Given the description of an element on the screen output the (x, y) to click on. 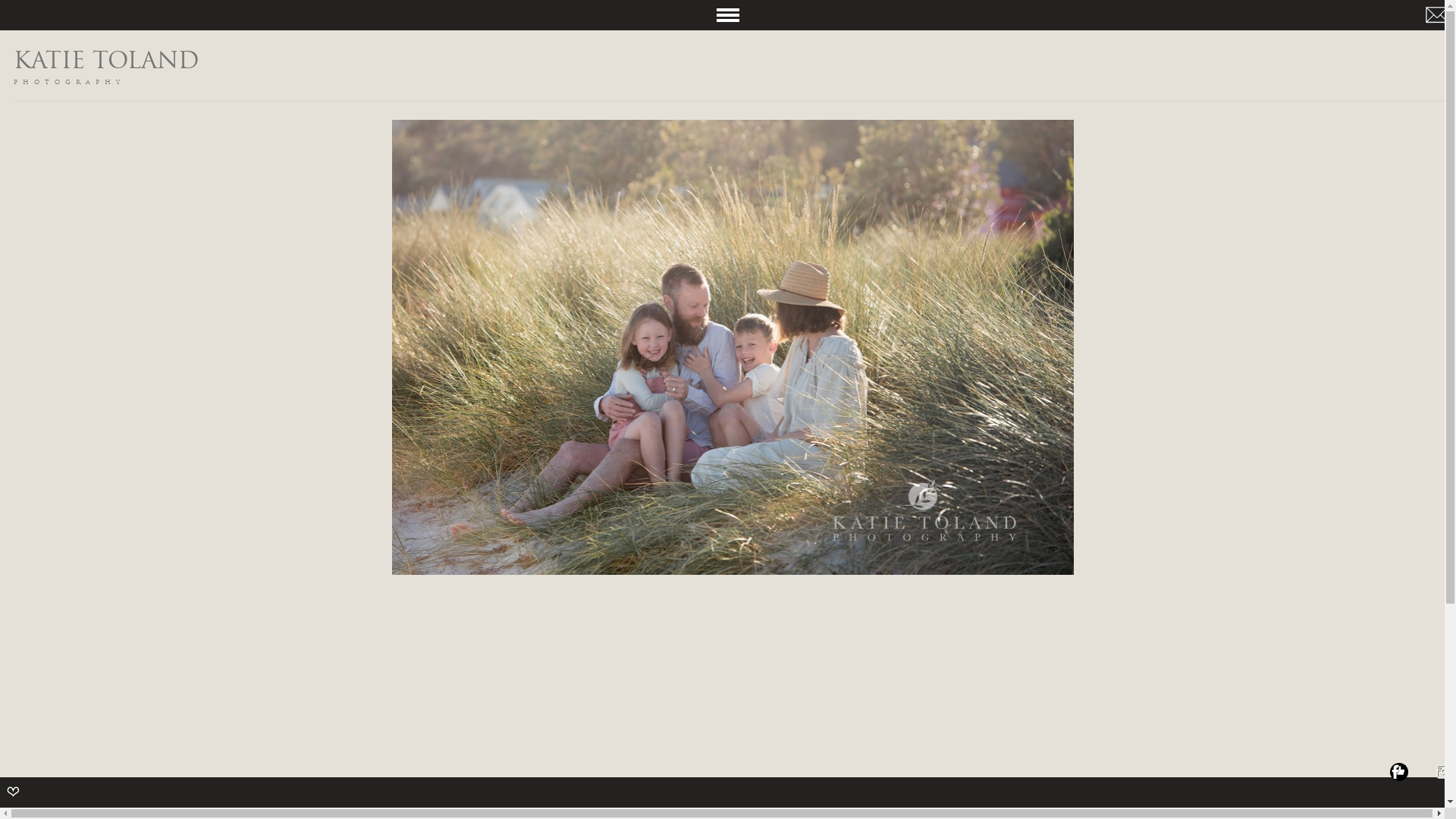
SEND Element type: text (146, 240)
